Given the description of an element on the screen output the (x, y) to click on. 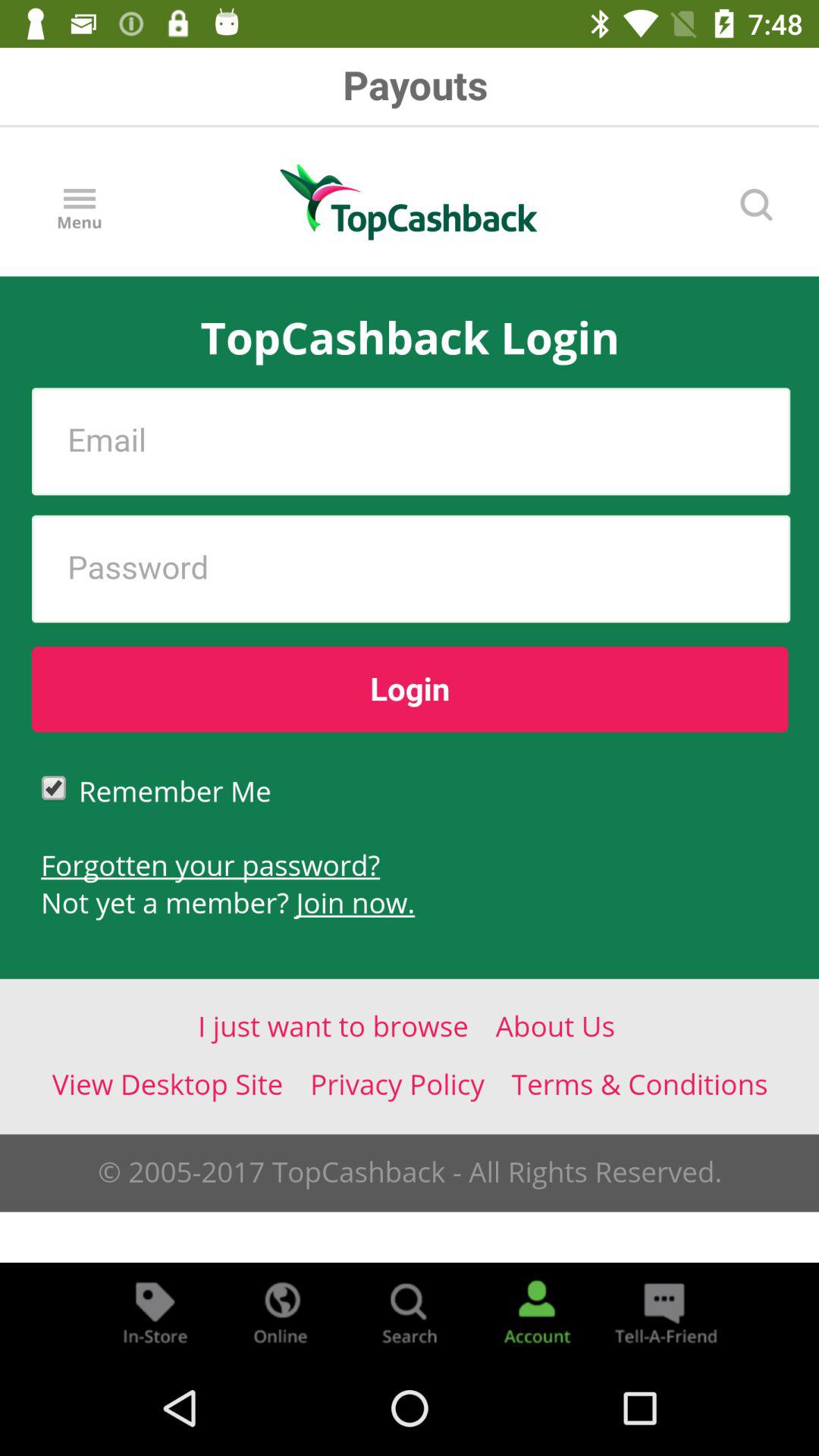
go to store (154, 1311)
